Given the description of an element on the screen output the (x, y) to click on. 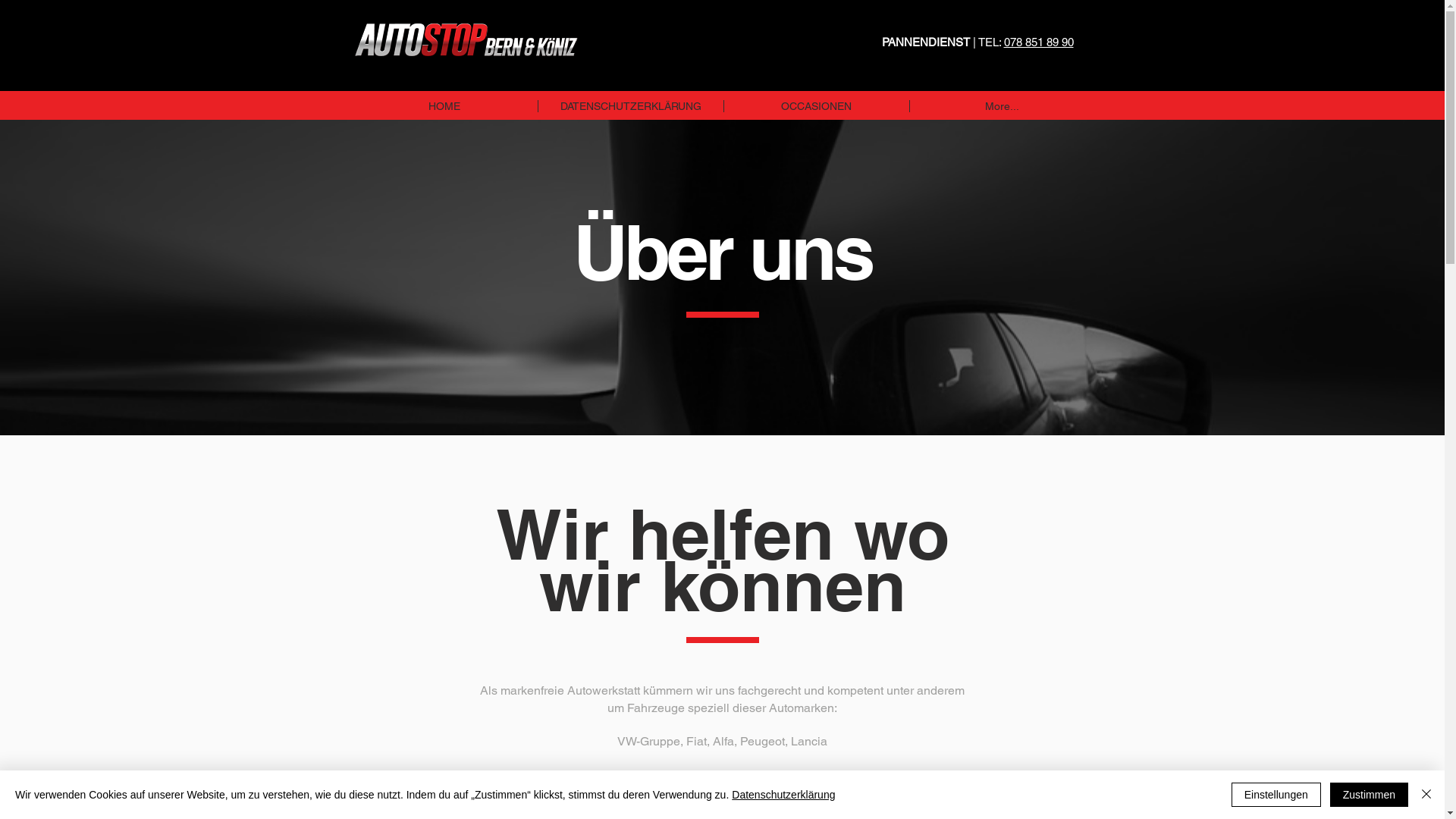
HOME Element type: text (444, 106)
OCCASIONEN Element type: text (816, 106)
Zustimmen Element type: text (1369, 794)
Einstellungen Element type: text (1276, 794)
078 851 89 90 Element type: text (1038, 41)
